Given the description of an element on the screen output the (x, y) to click on. 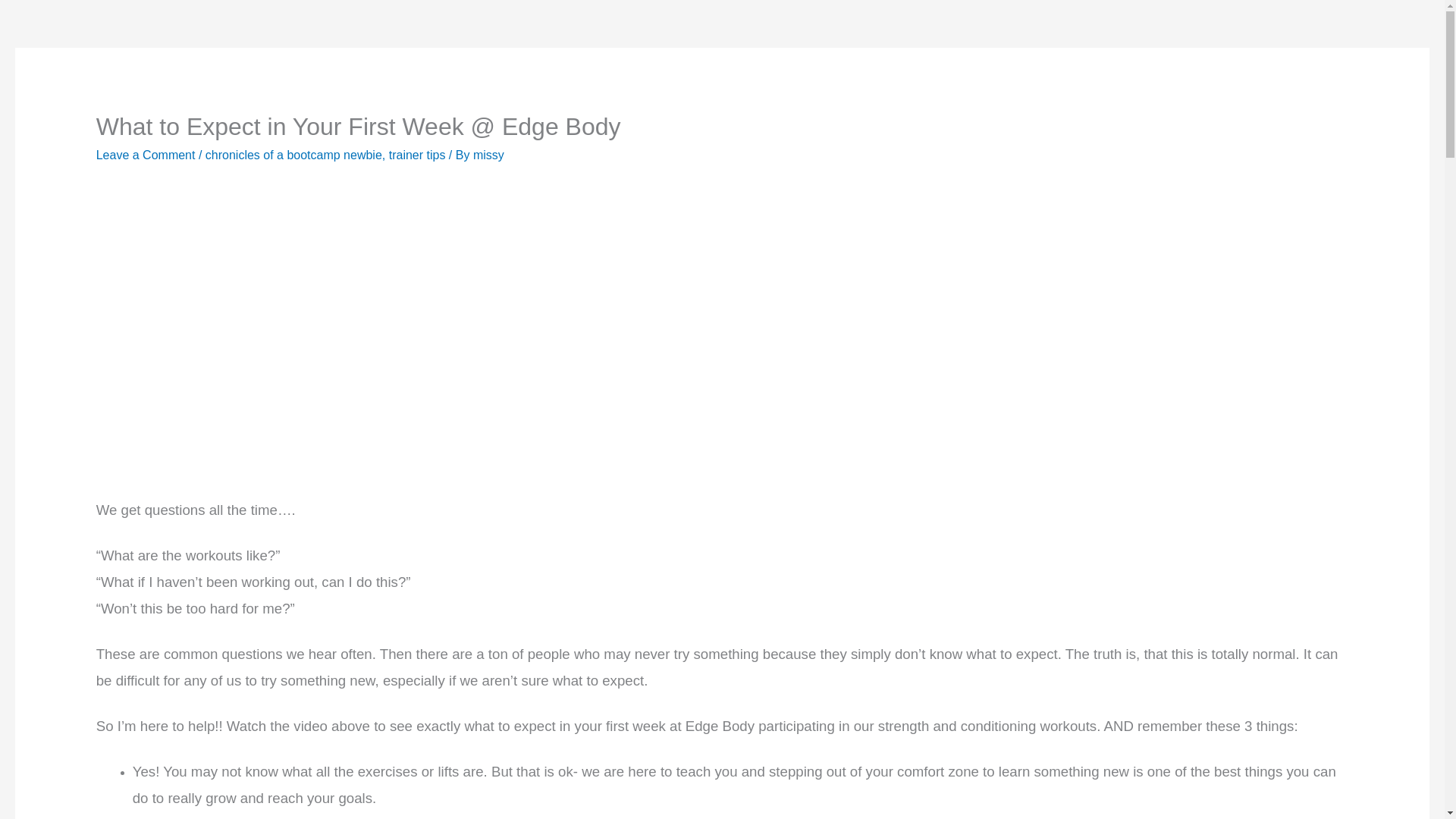
chronicles of a bootcamp newbie (293, 154)
Leave a Comment (145, 154)
View all posts by missy (488, 154)
trainer tips (416, 154)
missy (488, 154)
